Given the description of an element on the screen output the (x, y) to click on. 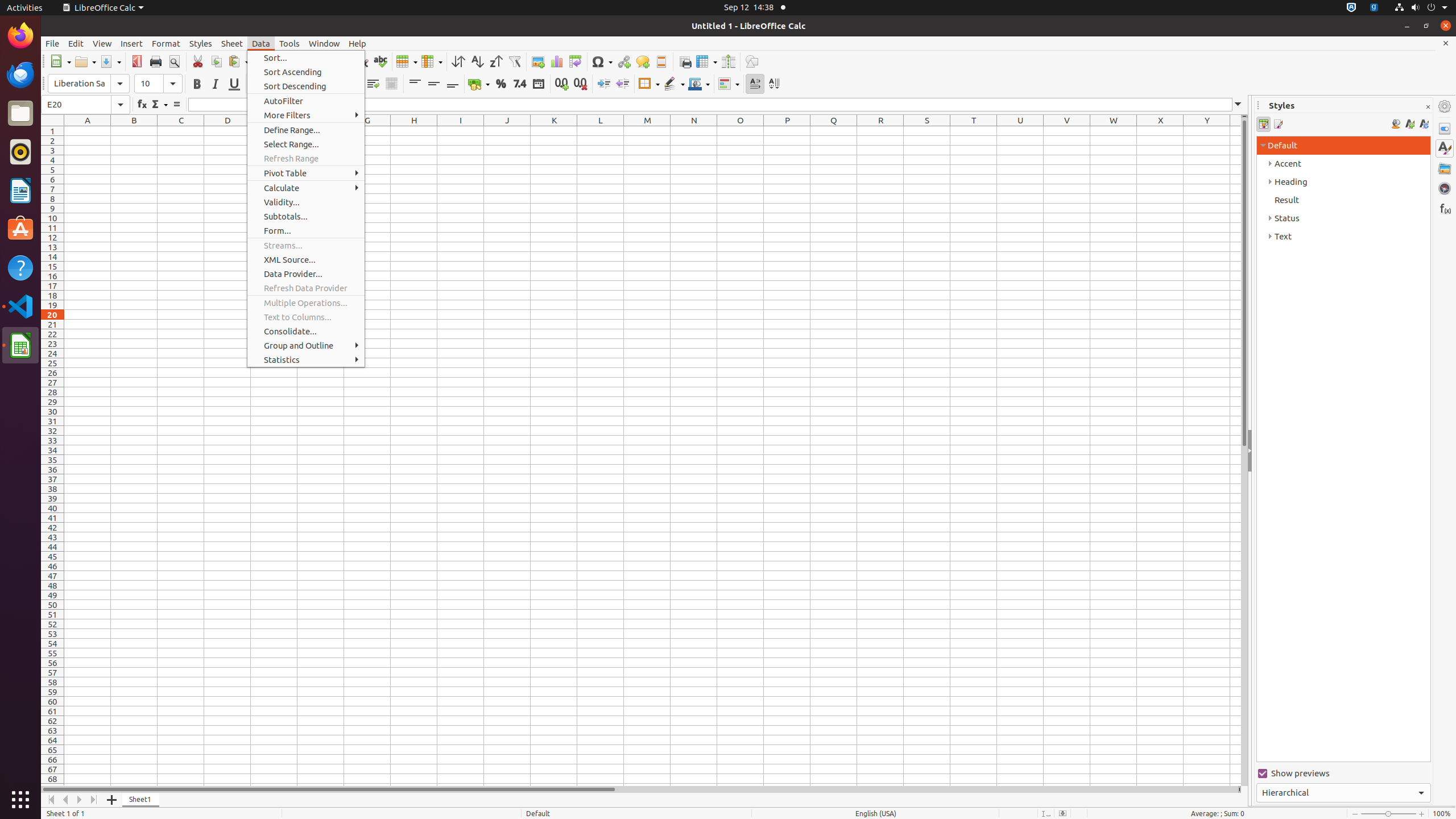
Show previews Element type: check-box (1343, 773)
Styles Element type: radio-button (1444, 148)
Date Element type: push-button (537, 83)
Print Element type: push-button (155, 61)
Sheet Element type: menu (231, 43)
